Given the description of an element on the screen output the (x, y) to click on. 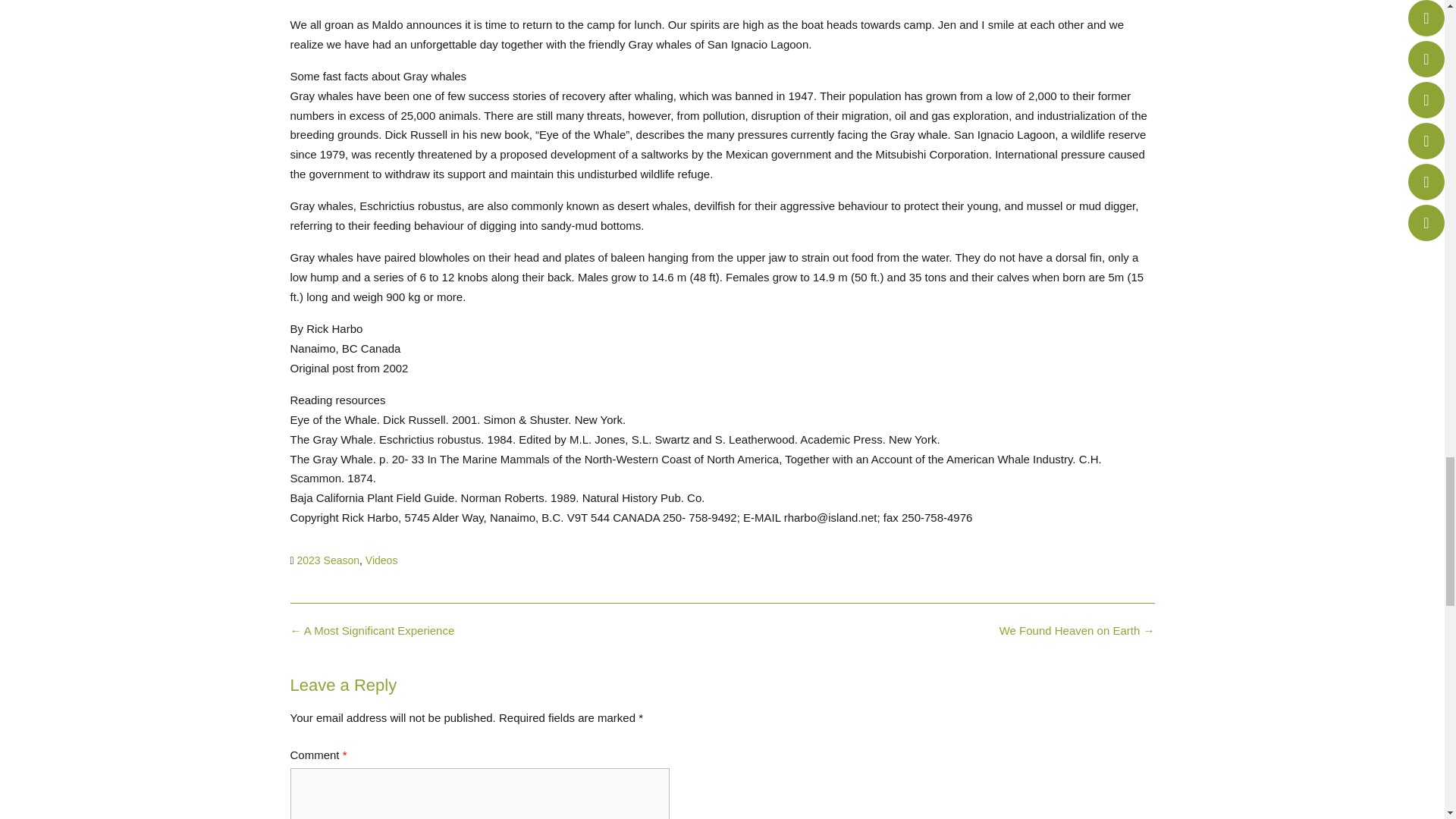
2023 Season (328, 560)
